Given the description of an element on the screen output the (x, y) to click on. 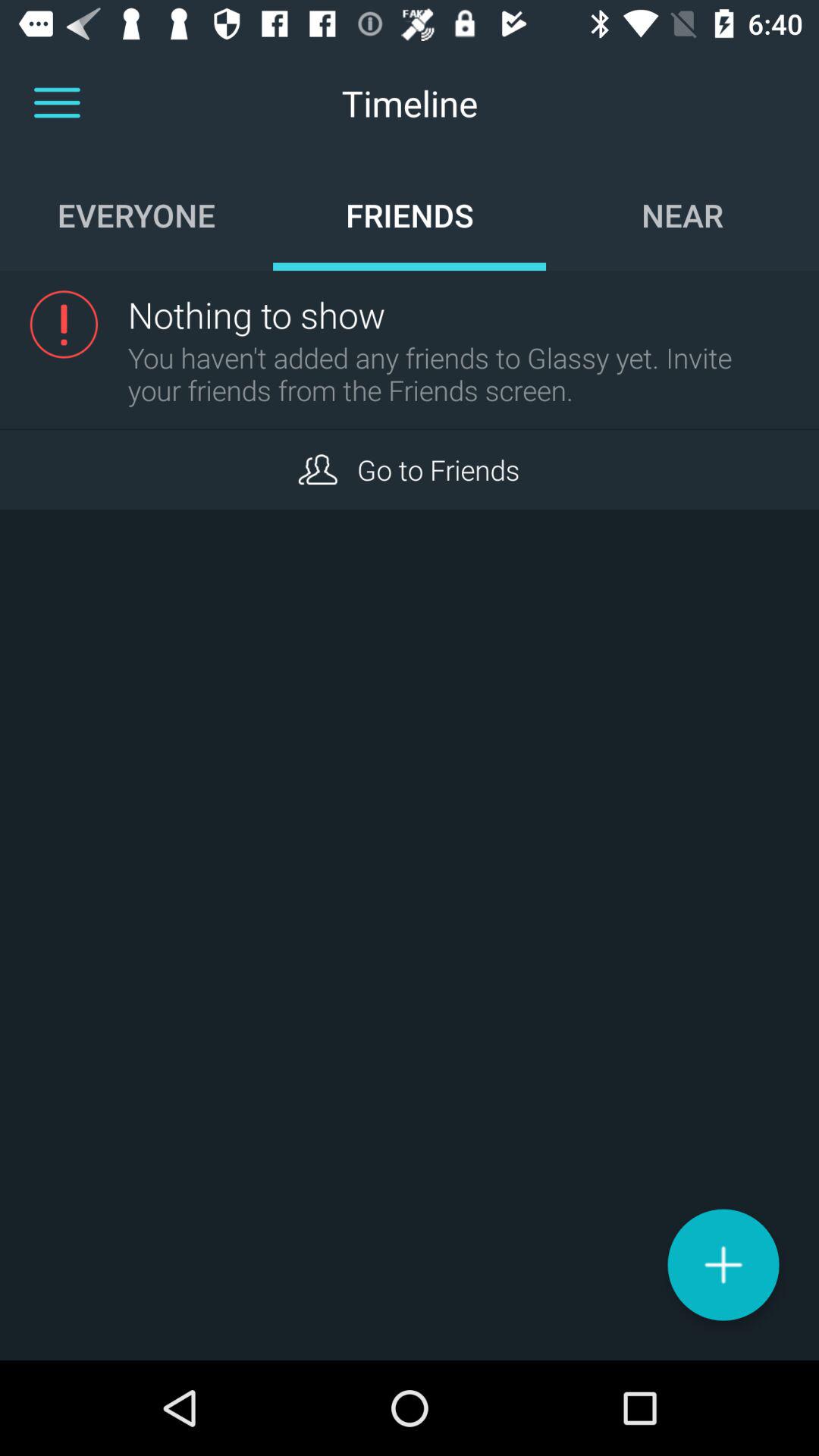
open options menu button (57, 103)
